Given the description of an element on the screen output the (x, y) to click on. 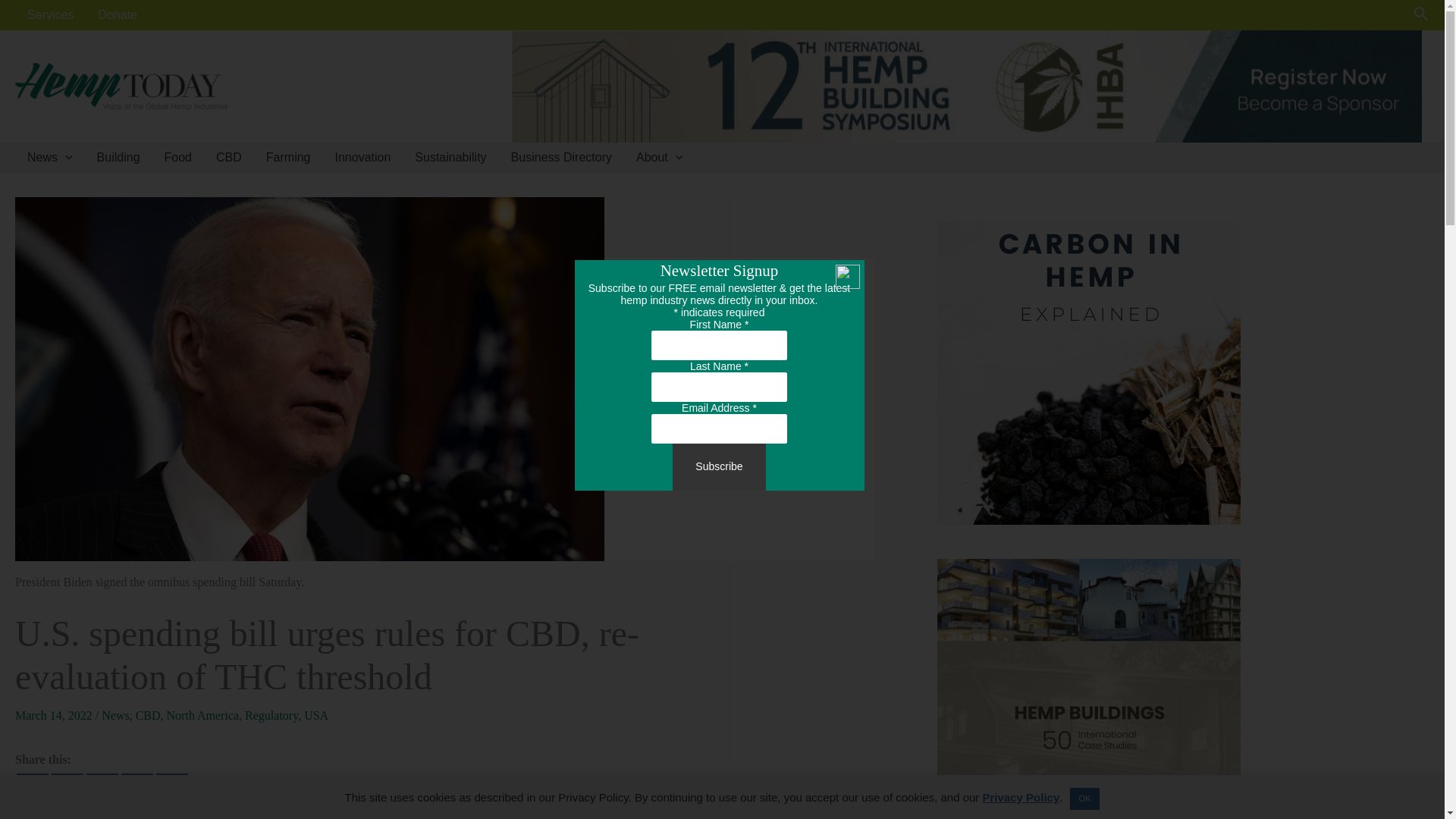
Sustainability (450, 157)
About (659, 157)
Innovation (362, 157)
Facebook (32, 789)
CBD (228, 157)
Food (177, 157)
Linkedin (101, 789)
Farming (288, 157)
STEVE 50 BLDGS COVER400x440 (1088, 688)
Email (171, 789)
Business Directory (561, 157)
Twitter (66, 789)
Donate (117, 15)
News (49, 157)
Search (1421, 15)
